Given the description of an element on the screen output the (x, y) to click on. 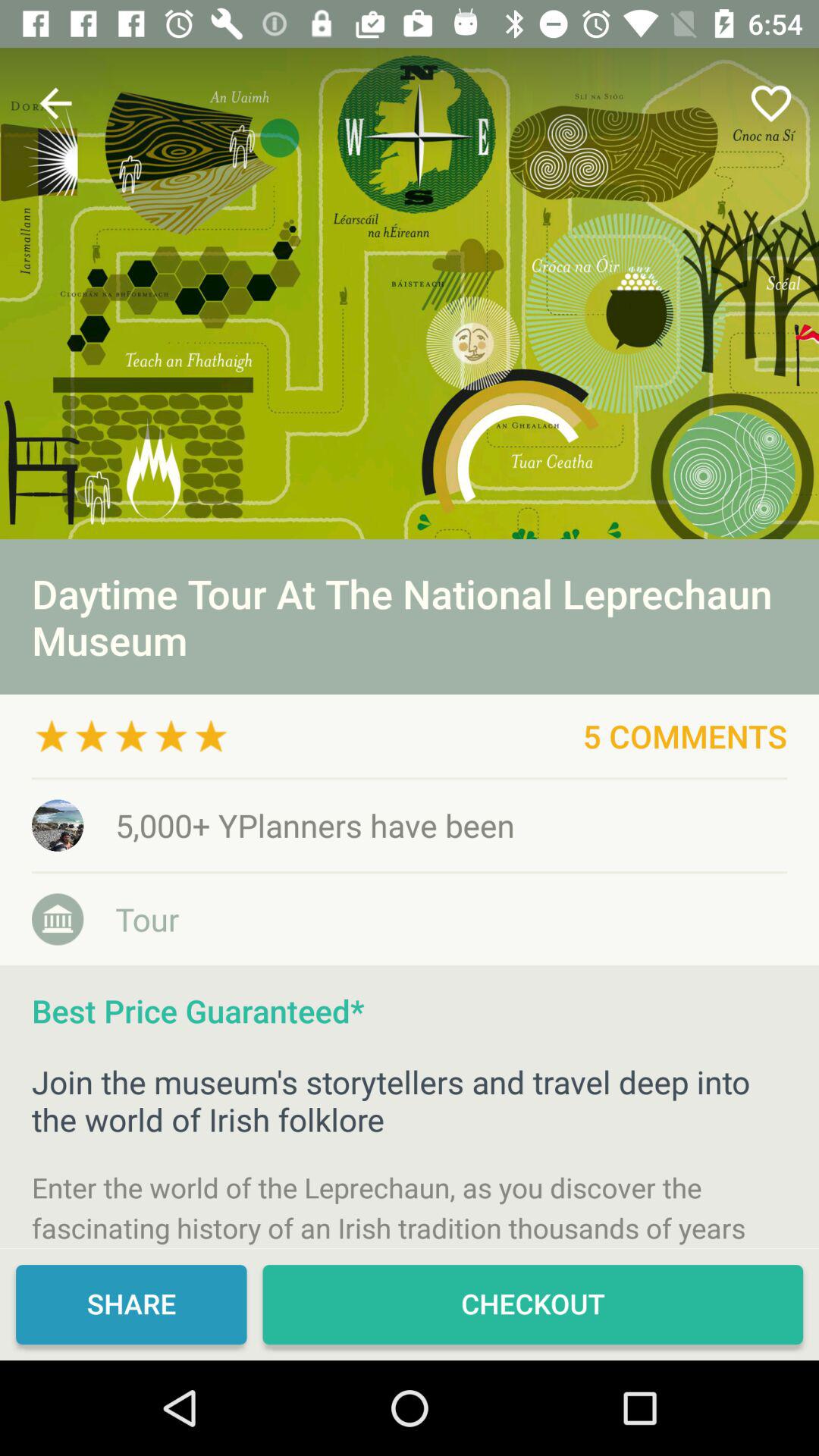
launch icon above daytime tour at (409, 293)
